Given the description of an element on the screen output the (x, y) to click on. 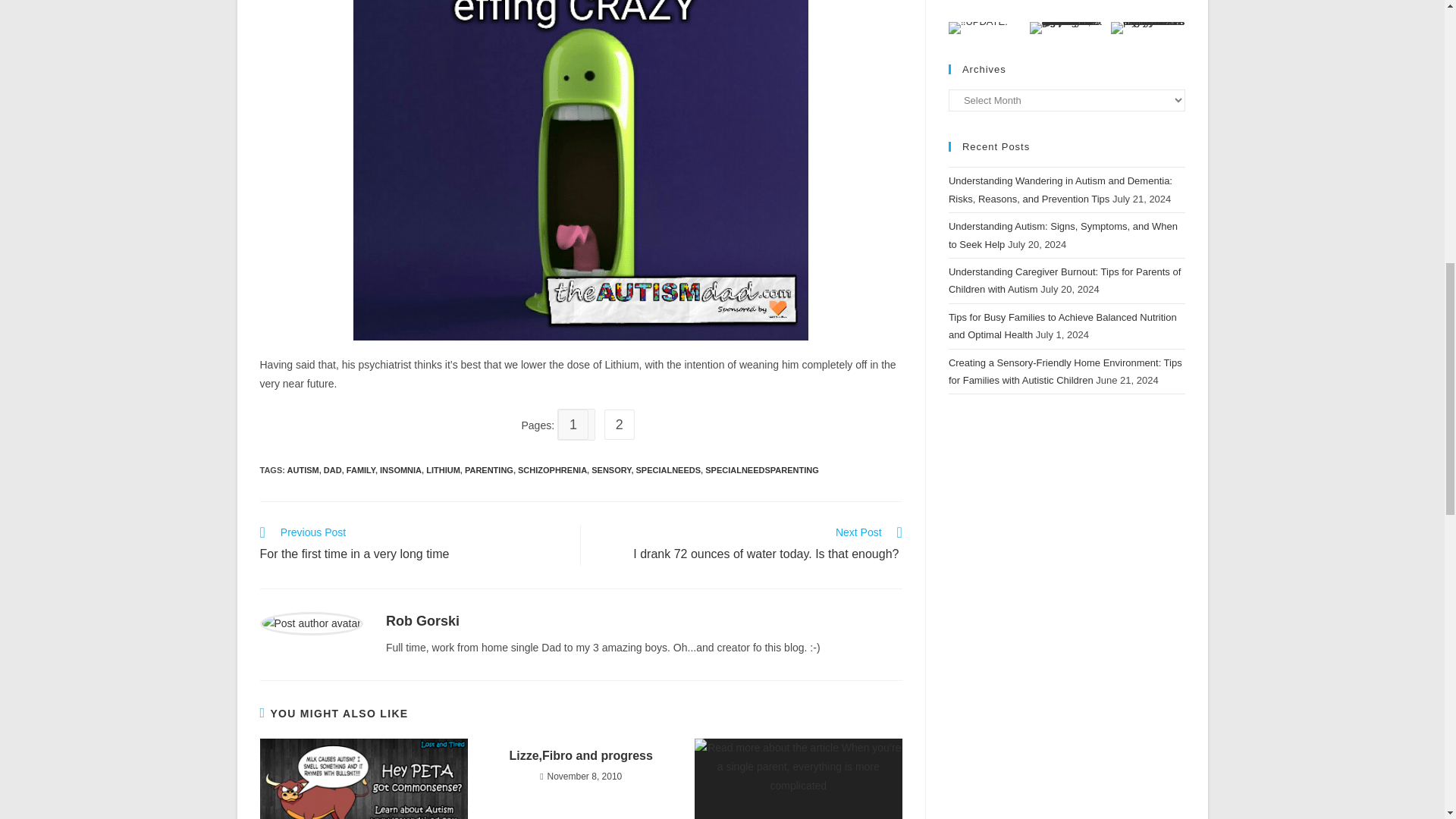
Visit author page (422, 620)
Visit author page (310, 622)
